Given the description of an element on the screen output the (x, y) to click on. 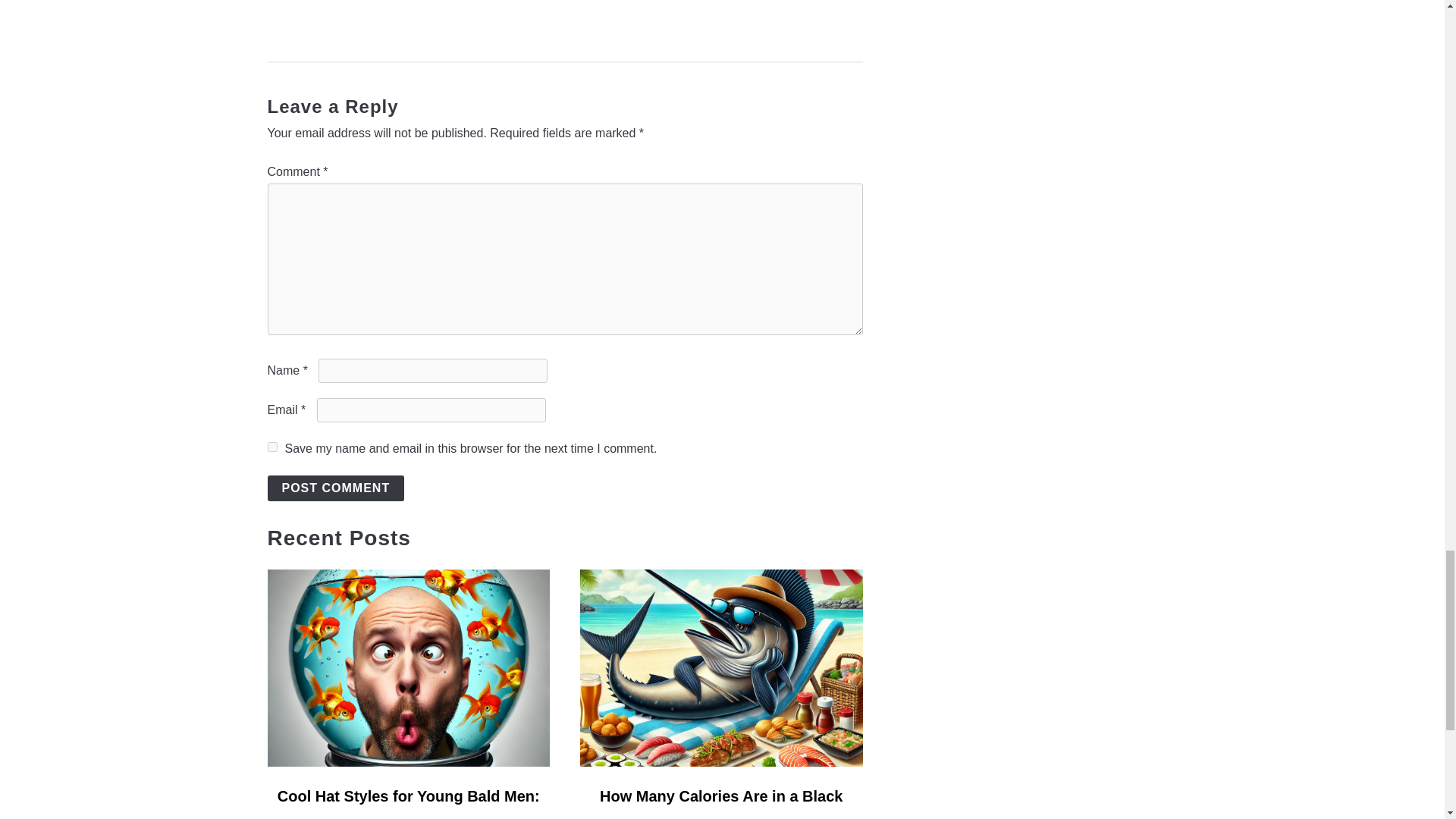
Post Comment (335, 488)
yes (271, 447)
How Many Calories Are in a Black Marlin? (721, 803)
Post Comment (335, 488)
link to How Many Calories Are in a Black Marlin? (721, 667)
